Given the description of an element on the screen output the (x, y) to click on. 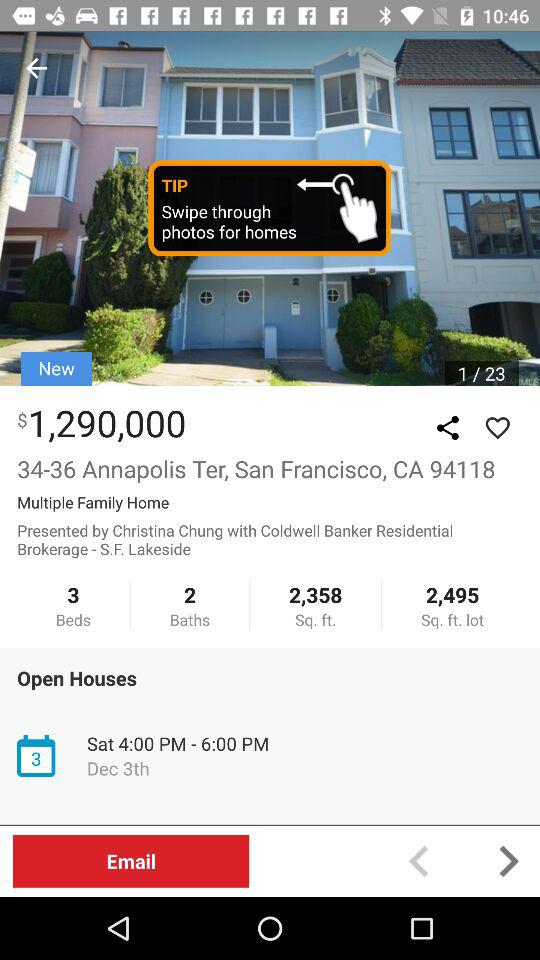
back (418, 860)
